Given the description of an element on the screen output the (x, y) to click on. 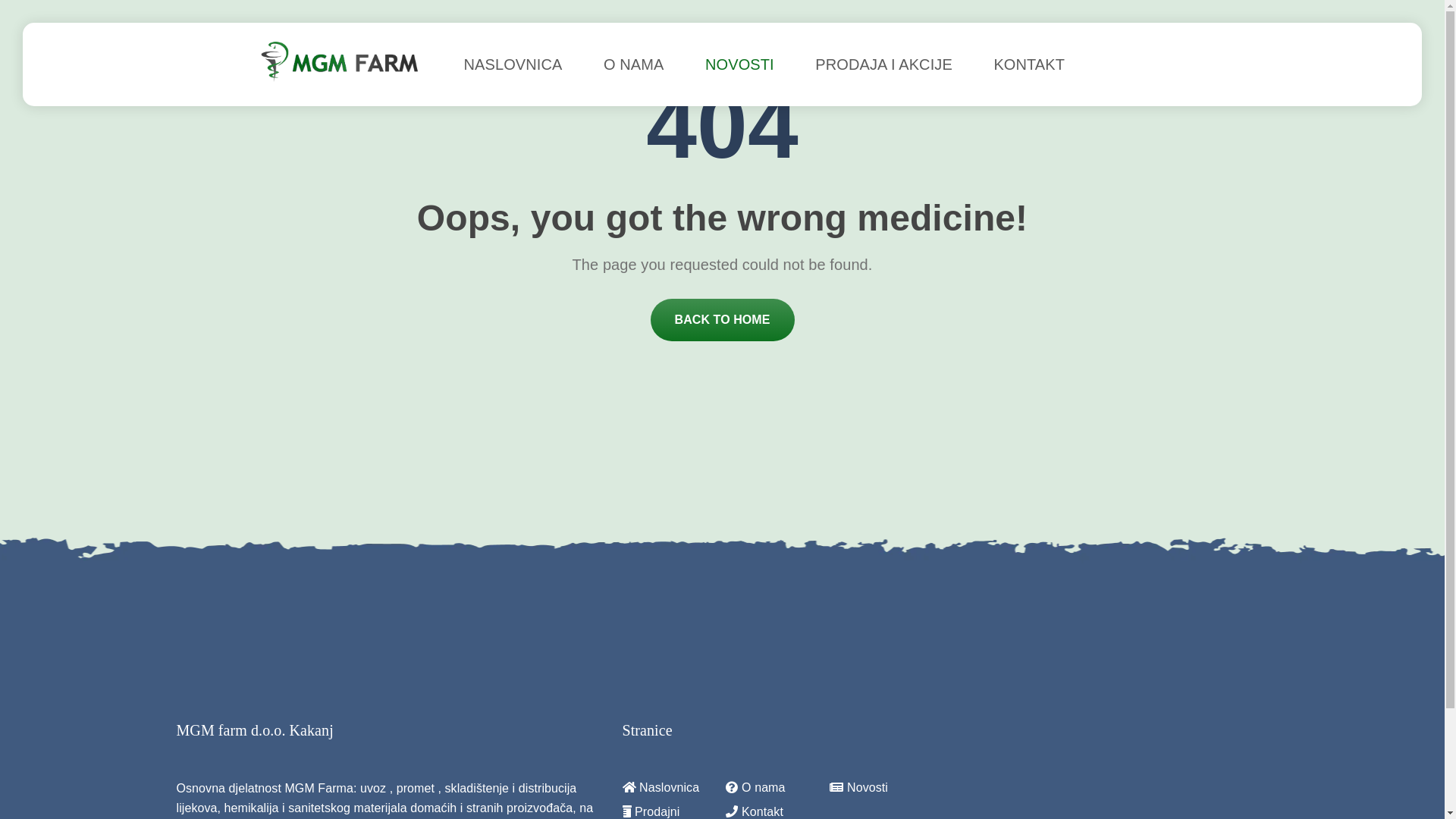
NOVOSTI Element type: text (739, 64)
O nama Element type: text (777, 787)
NASLOVNICA Element type: text (513, 64)
KONTAKT Element type: text (1028, 64)
O NAMA Element type: text (633, 64)
Naslovnica Element type: text (673, 787)
PRODAJA I AKCIJE Element type: text (883, 64)
BACK TO HOME Element type: text (722, 319)
Novosti Element type: text (881, 787)
